Given the description of an element on the screen output the (x, y) to click on. 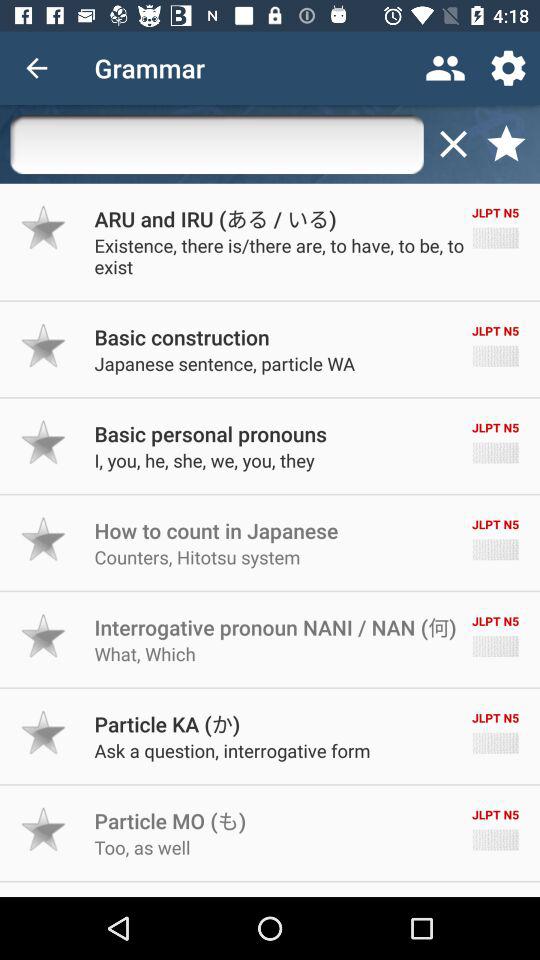
choose the item to the right of grammar (444, 67)
